Given the description of an element on the screen output the (x, y) to click on. 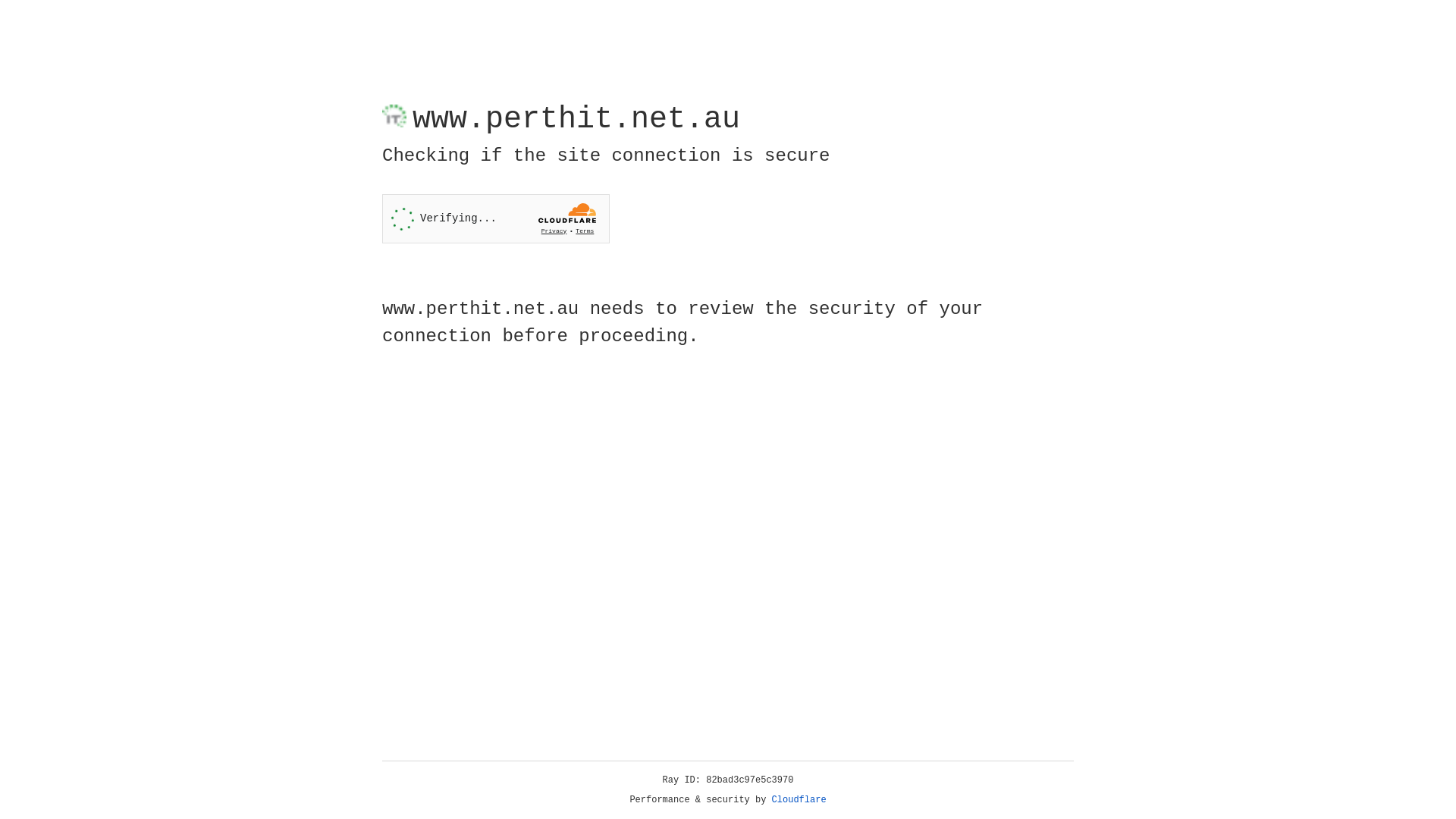
Cloudflare Element type: text (798, 799)
Widget containing a Cloudflare security challenge Element type: hover (495, 218)
